Given the description of an element on the screen output the (x, y) to click on. 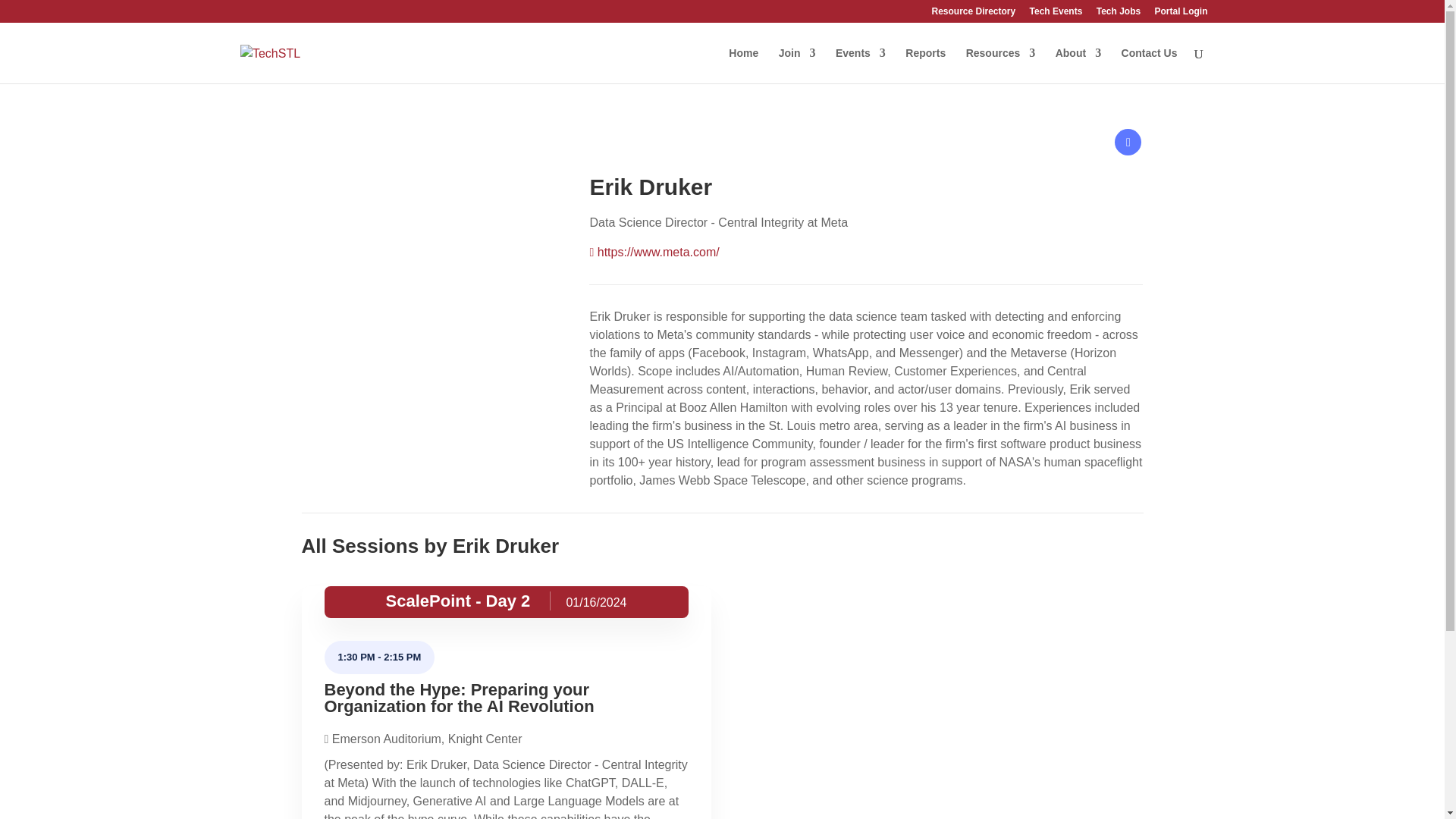
Contact Us (1149, 65)
About (1077, 65)
Join (796, 65)
Resource Directory (972, 14)
Tech Jobs (1118, 14)
Resources (1000, 65)
Tech Events (1056, 14)
Portal Login (1180, 14)
Reports (924, 65)
Events (860, 65)
